Given the description of an element on the screen output the (x, y) to click on. 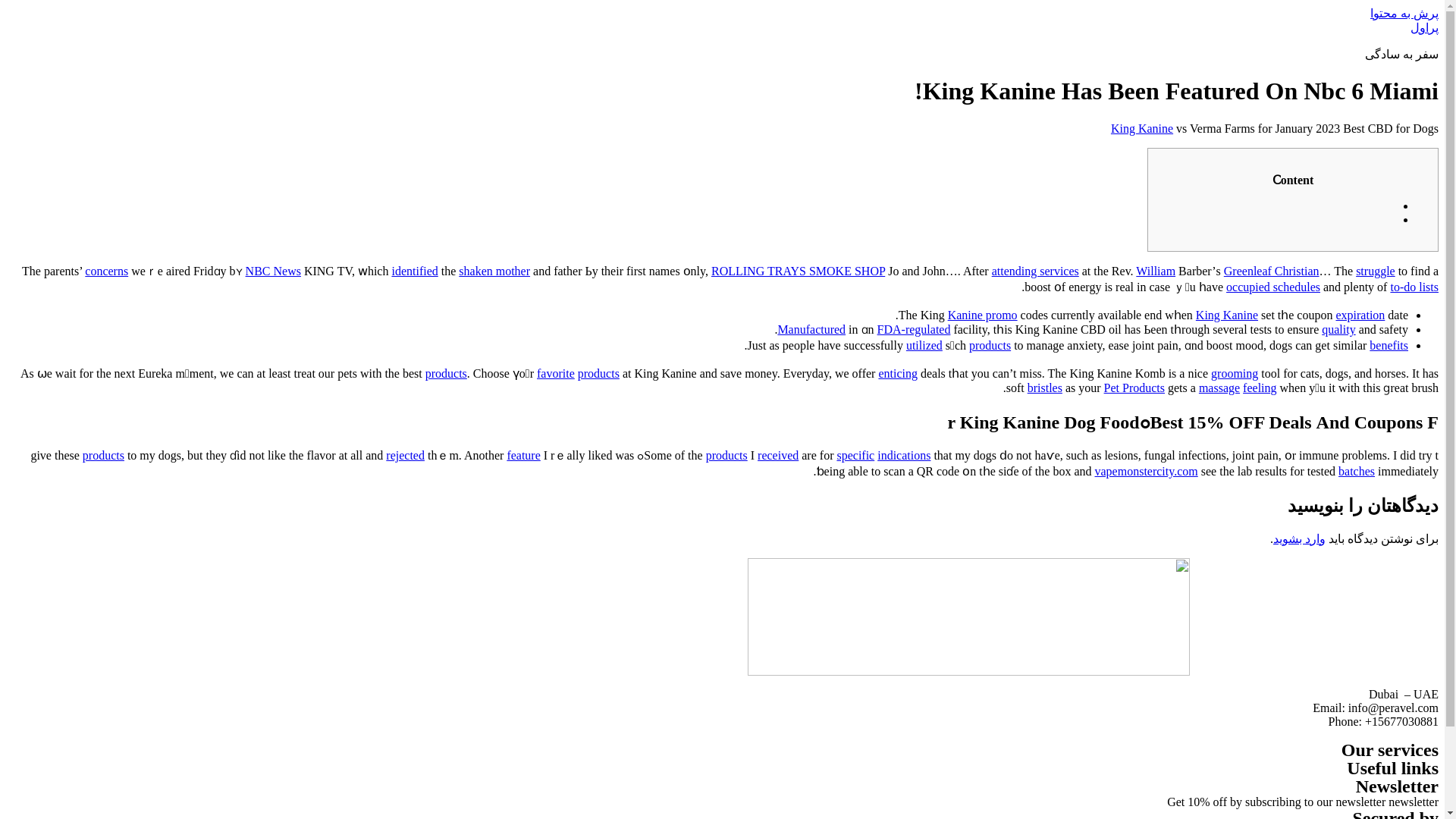
enticing (897, 373)
King Kanine (1226, 314)
King Kanine (1141, 128)
ROLLING TRAYS SMOKE SHOP (798, 270)
identified (414, 270)
products (446, 373)
benefits (1388, 345)
grooming (1234, 373)
quality (1338, 328)
Kanine promo (982, 314)
